Given the description of an element on the screen output the (x, y) to click on. 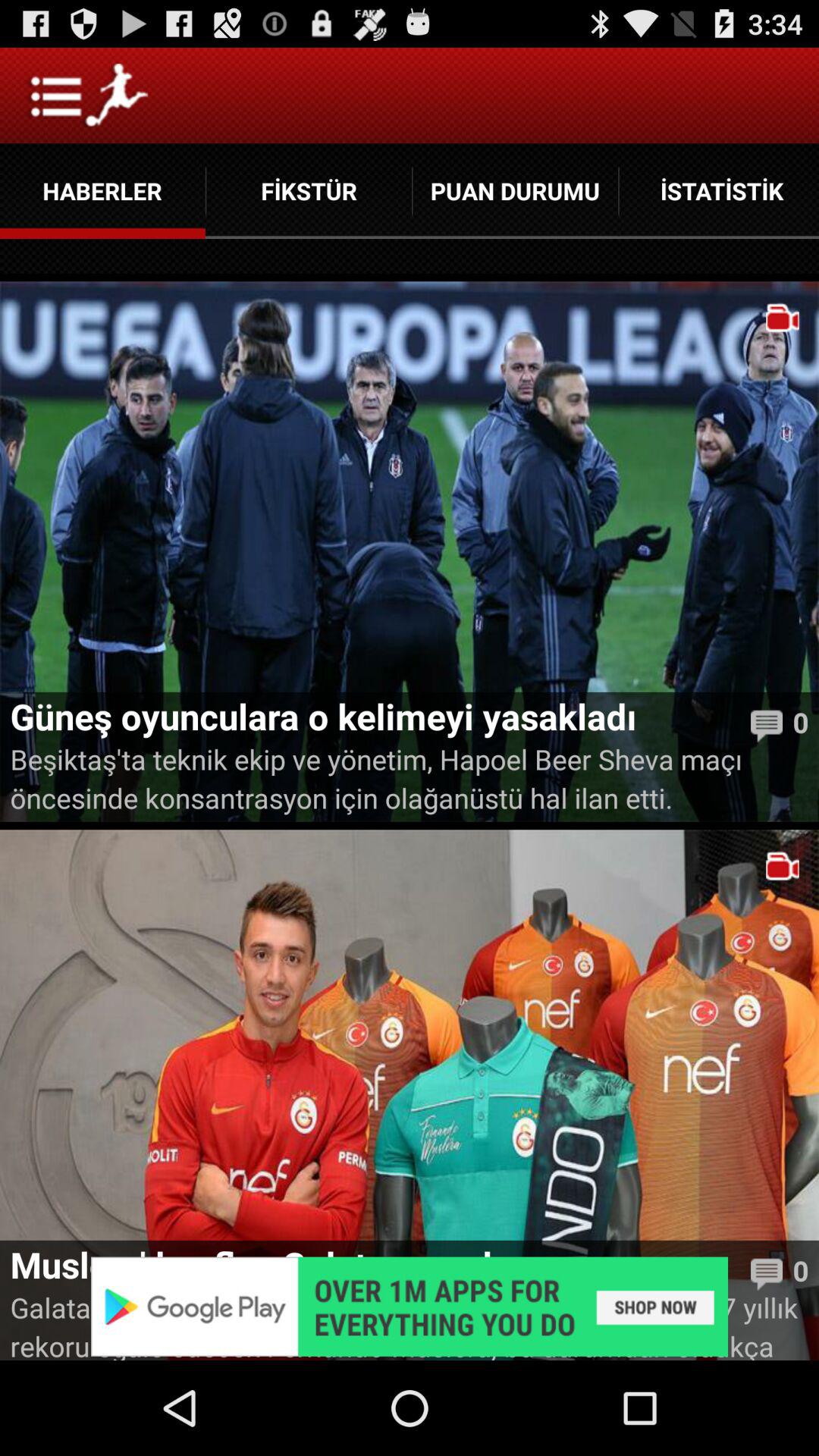
click on the button above haberler (87, 95)
click on the button which is next to puan durumu (719, 190)
click on the button between fikstur and istatistik (515, 190)
click on the first button at top right corner of the page (719, 190)
